Given the description of an element on the screen output the (x, y) to click on. 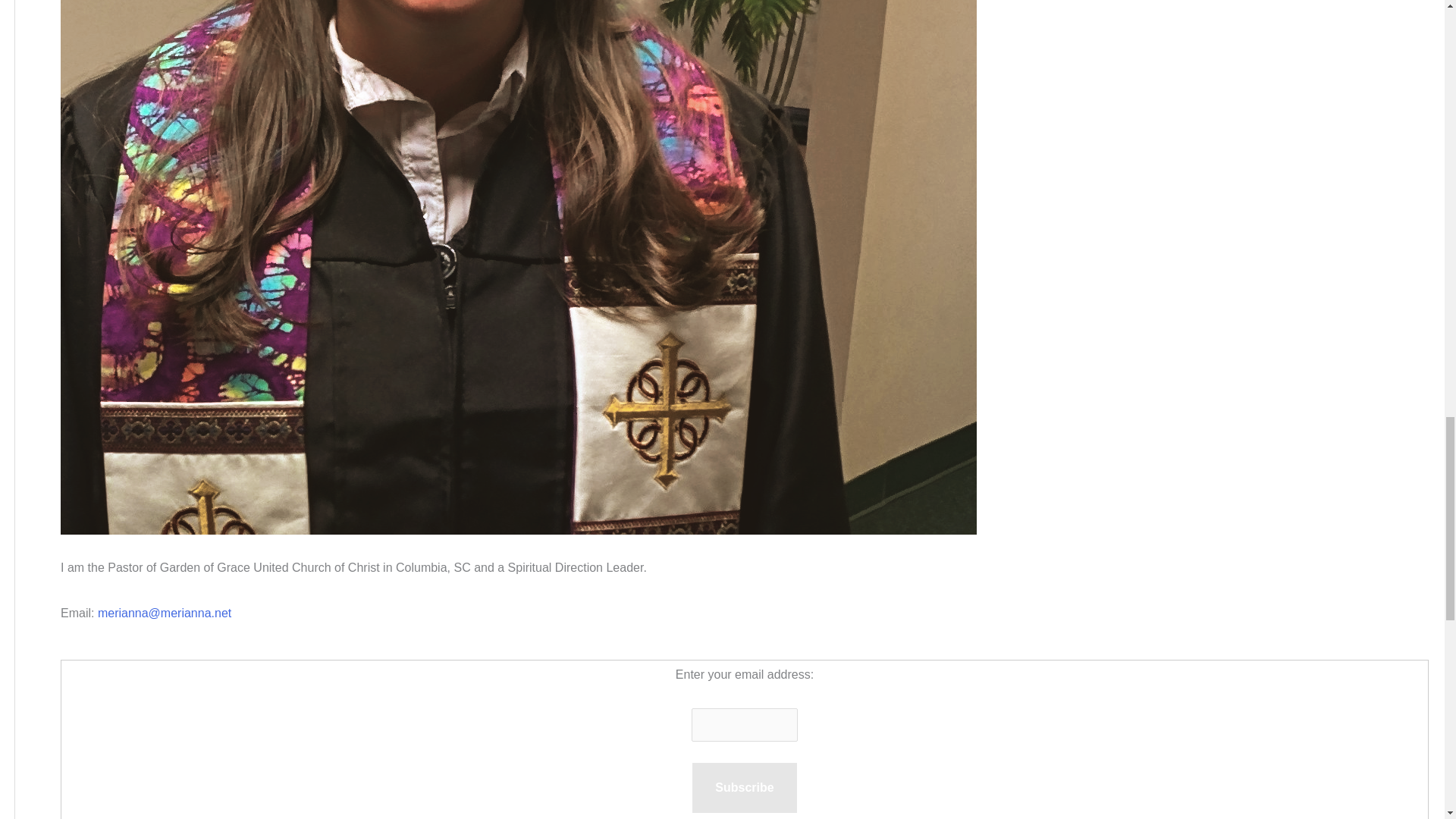
Subscribe (744, 787)
Subscribe (744, 787)
